Given the description of an element on the screen output the (x, y) to click on. 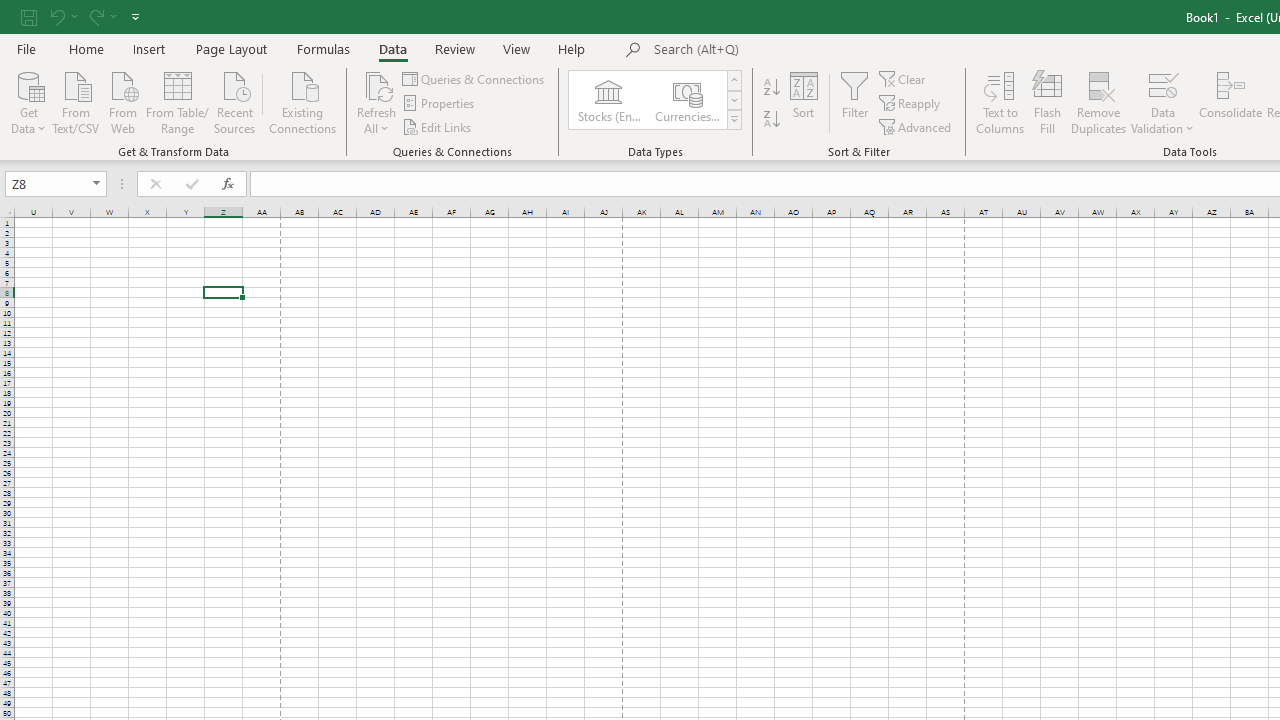
Sort A to Z (772, 87)
Advanced... (916, 126)
Flash Fill (1047, 102)
